Given the description of an element on the screen output the (x, y) to click on. 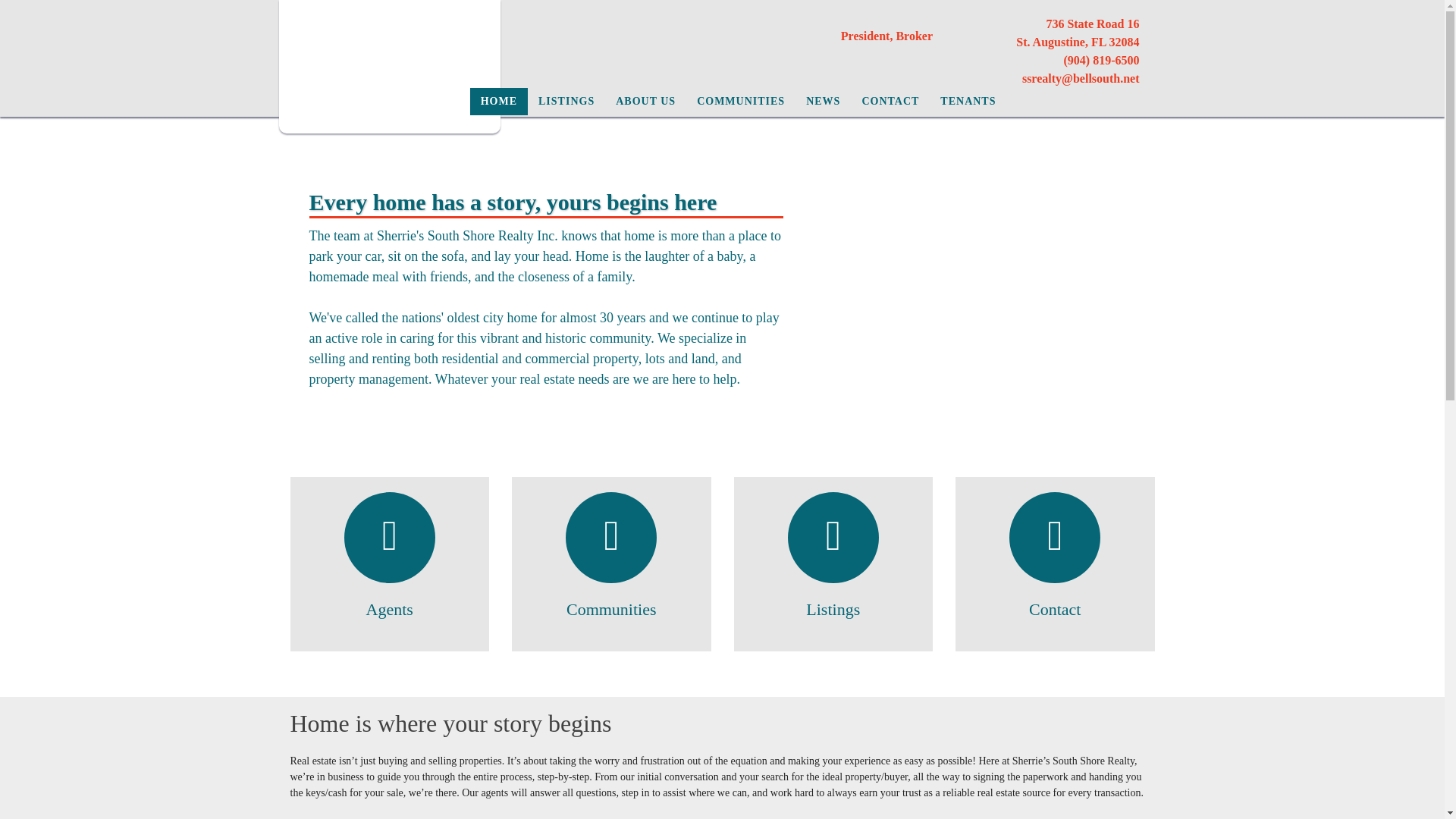
Listings (833, 609)
NEWS (822, 101)
Communities (611, 609)
COMMUNITIES (739, 101)
HOME (498, 101)
Agents (389, 609)
Skip to content (44, 7)
Skip to content (44, 7)
ABOUT US (645, 101)
TENANTS (968, 101)
